Given the description of an element on the screen output the (x, y) to click on. 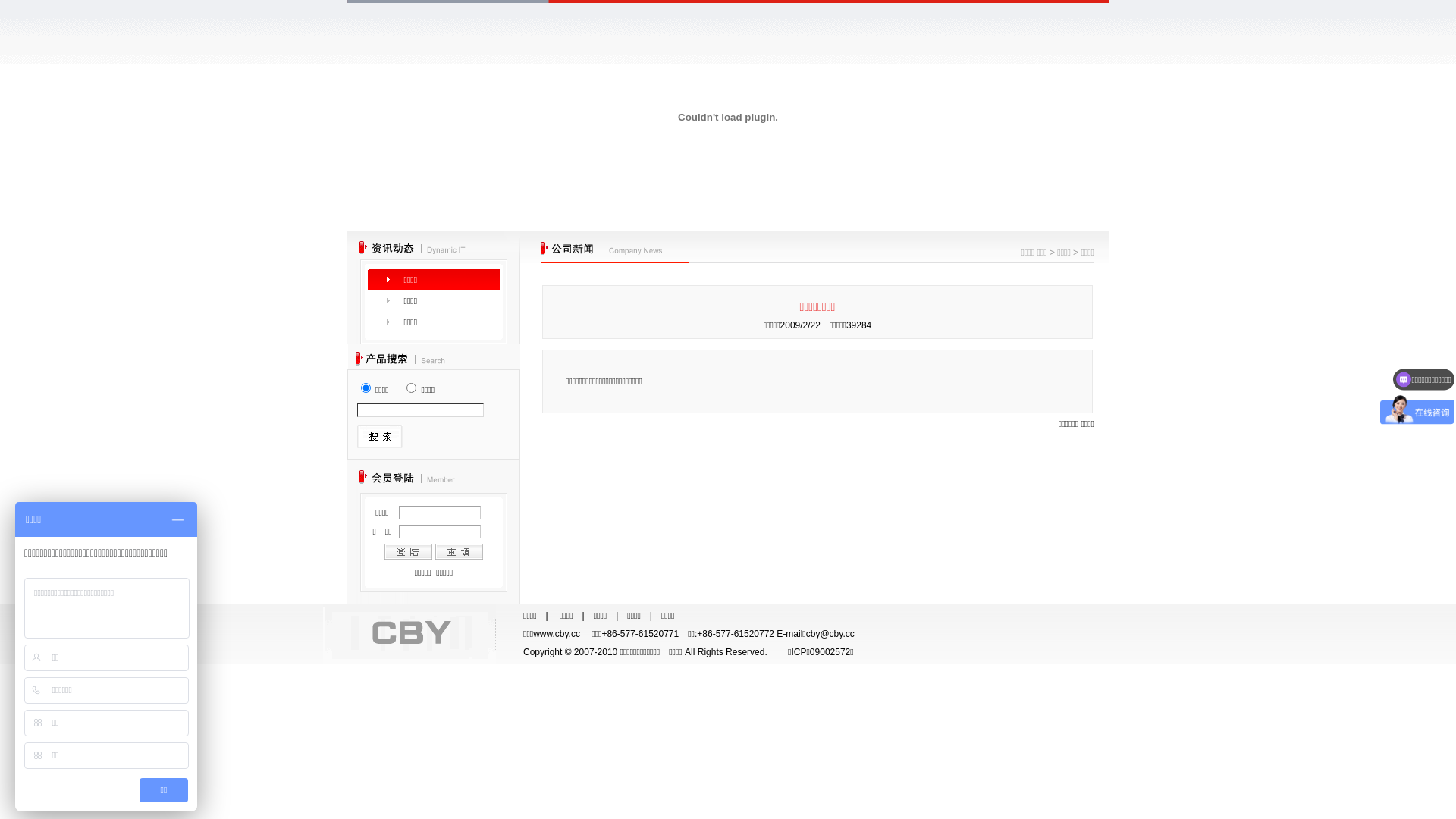
cby@cby.cc Element type: text (830, 633)
on Element type: text (365, 387)
on Element type: text (411, 387)
